Given the description of an element on the screen output the (x, y) to click on. 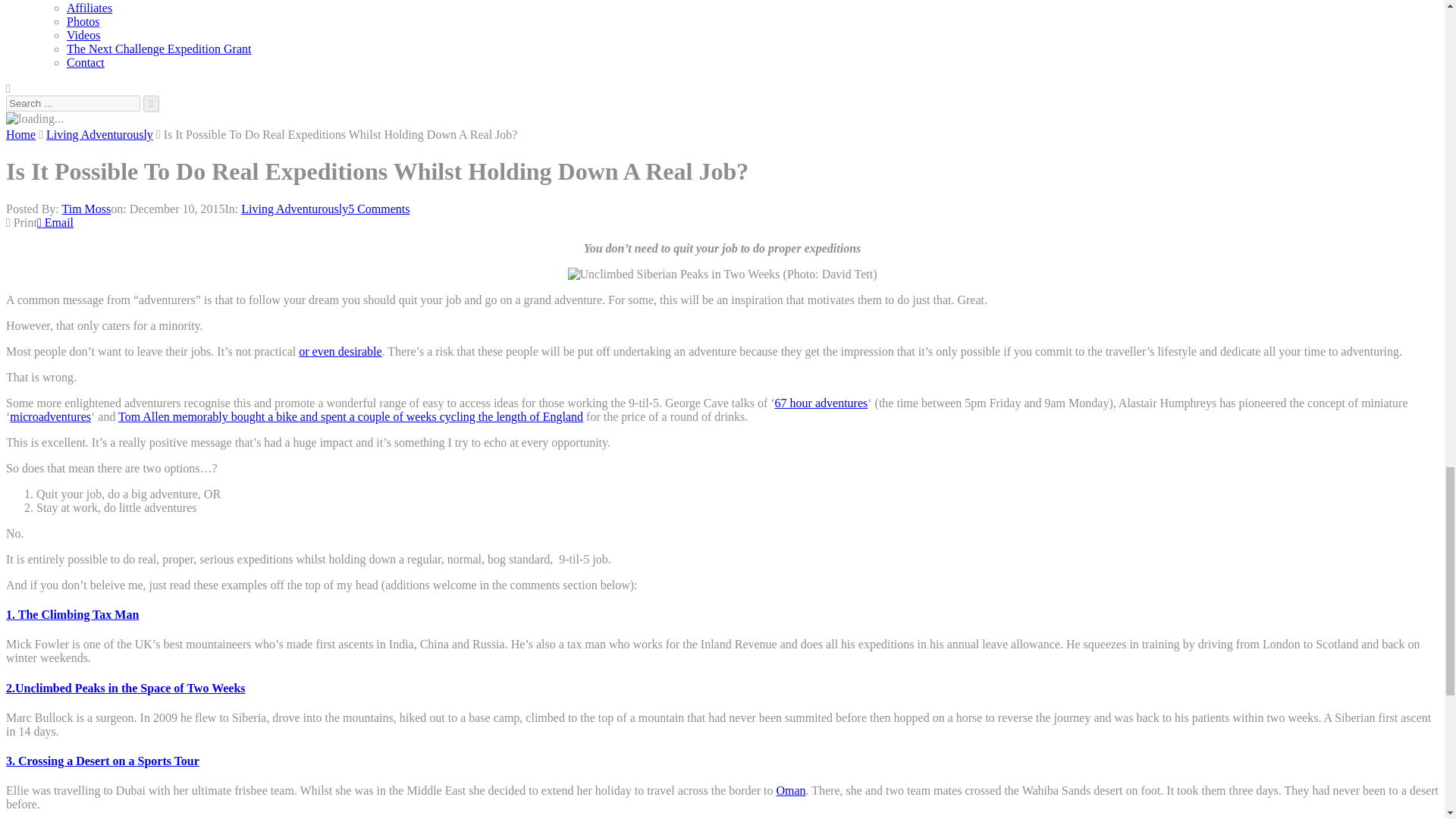
View all posts in Living Adventurously (294, 208)
Living Adventurously (99, 133)
